Given the description of an element on the screen output the (x, y) to click on. 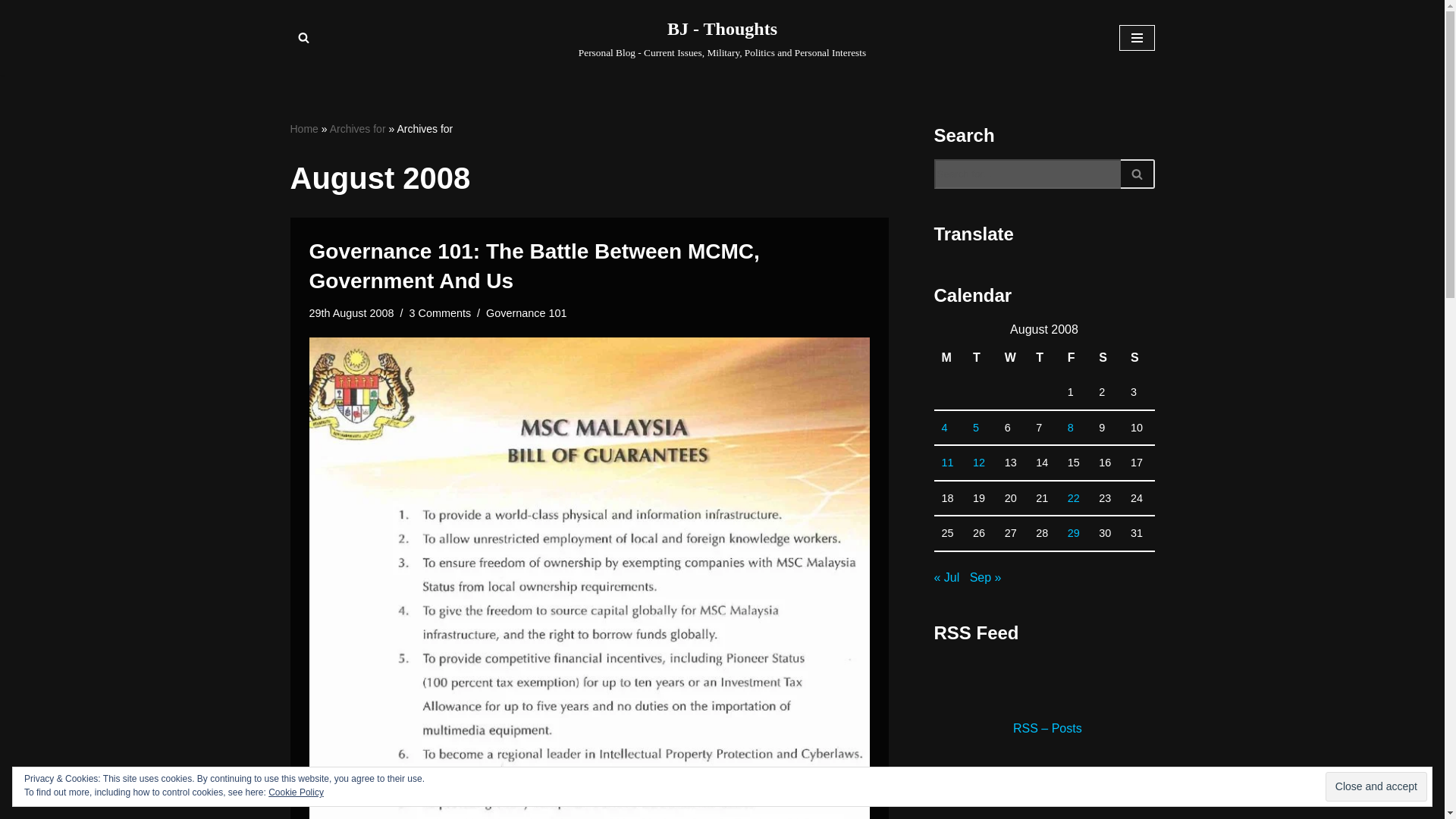
Governance 101 (526, 313)
Navigation Menu (1136, 37)
Home (303, 128)
Archives for (357, 128)
Governance 101: The Battle Between MCMC, Government And Us (534, 265)
Close and accept (1375, 786)
3 Comments (440, 313)
Skip to content (11, 31)
